Given the description of an element on the screen output the (x, y) to click on. 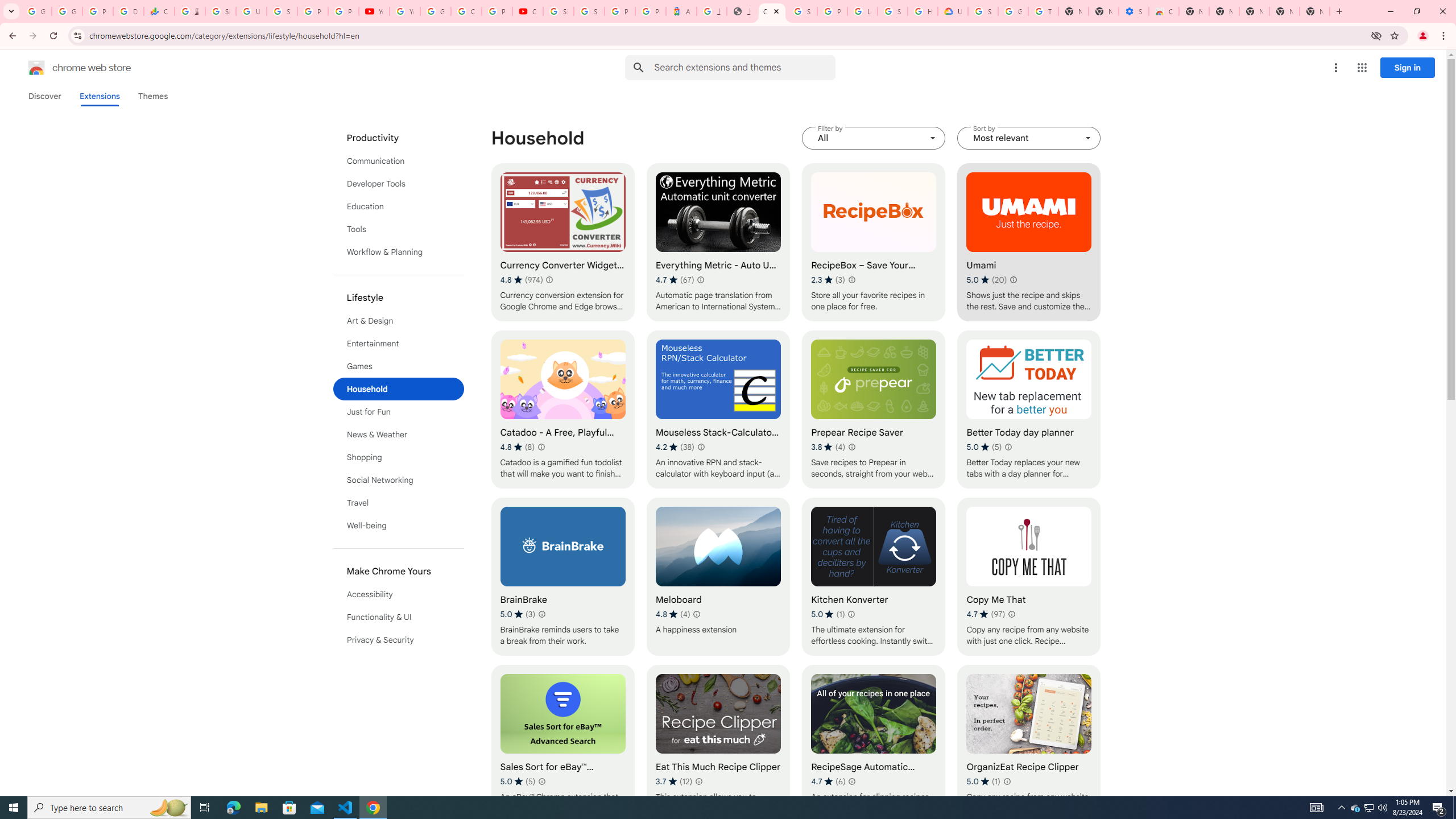
News & Weather (398, 434)
Extensions (99, 95)
Average rating 4.7 out of 5 stars. 97 ratings. (986, 613)
Chrome Web Store logo (36, 67)
More options menu (1335, 67)
Turn cookies on or off - Computer - Google Account Help (1042, 11)
Chrome Web Store logo chrome web store (67, 67)
Better Today day planner (1028, 409)
New Tab (1193, 11)
Everything Metric - Auto Unit Converter (718, 241)
